Given the description of an element on the screen output the (x, y) to click on. 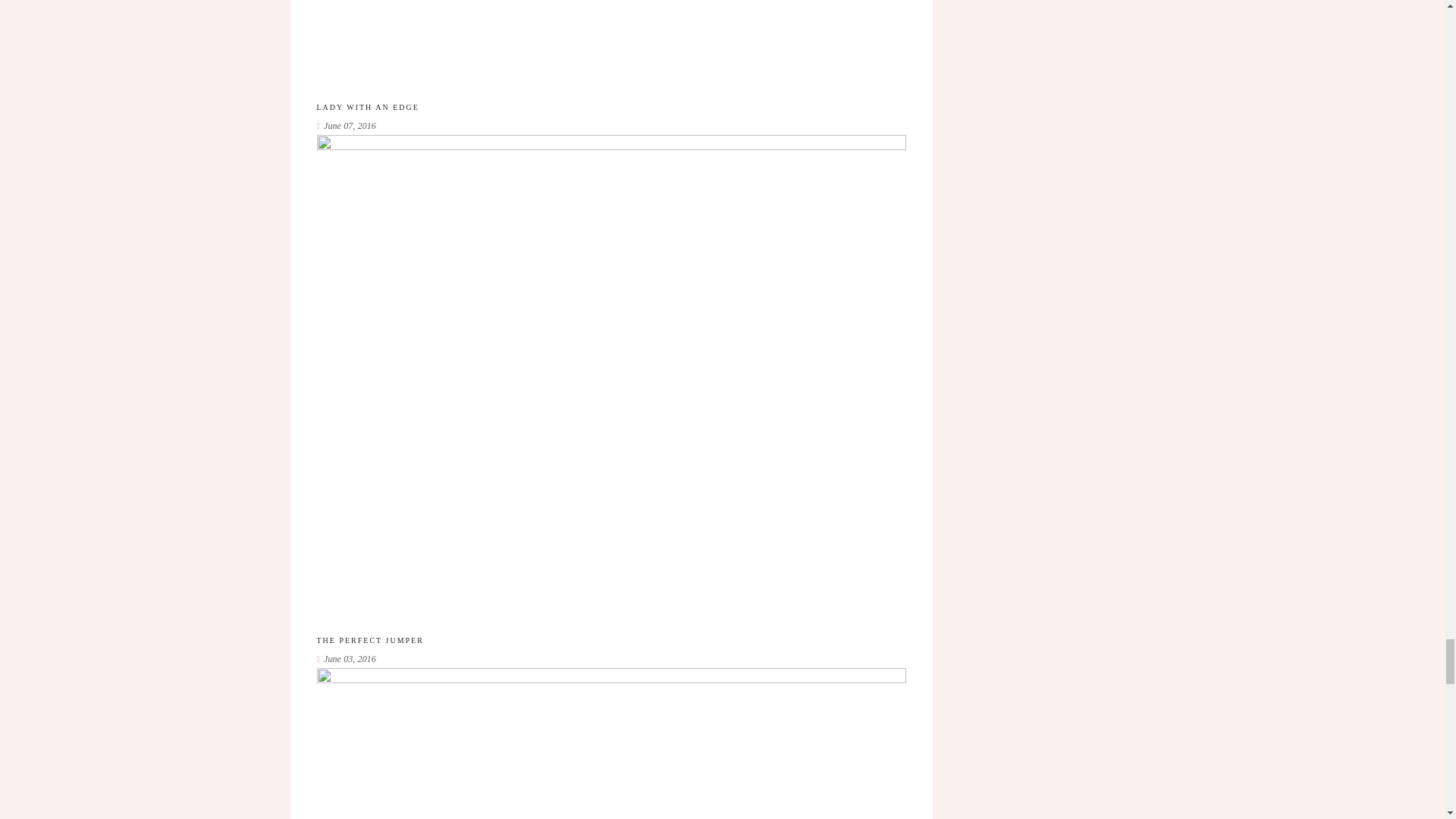
LADY WITH AN EDGE (368, 107)
THE PERFECT JUMPER (370, 640)
